Given the description of an element on the screen output the (x, y) to click on. 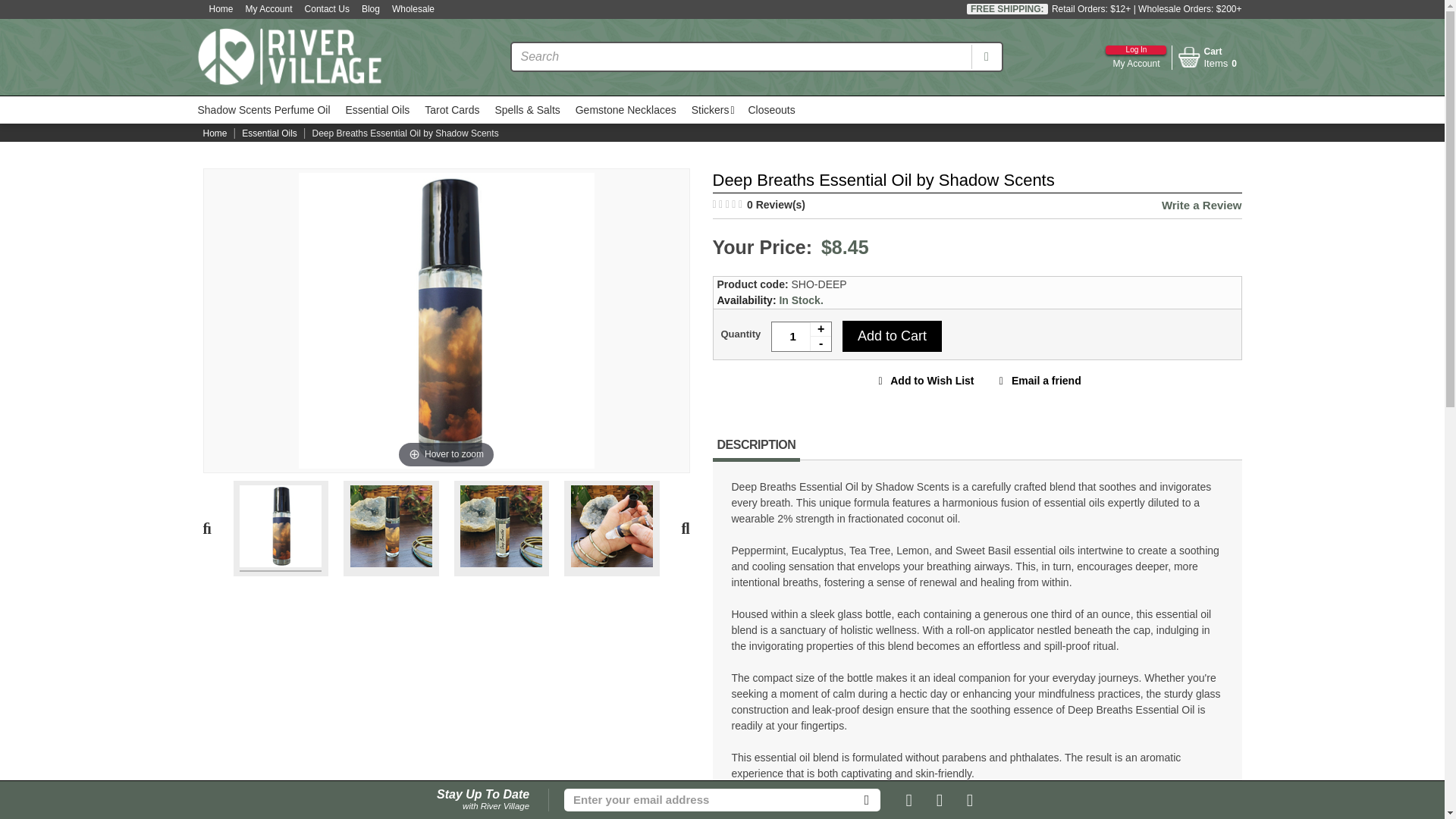
Like Us on Facebook (909, 799)
Essential Oils (376, 109)
Tarot Cards (451, 109)
Shadow Scents Perfume Oil (263, 109)
Blog (370, 9)
Deep Breaths Essential Oil by Shadow Scents  (1135, 60)
Contact Us (280, 528)
Essential Oils (326, 9)
Hover to zoom (269, 132)
Gemstone Necklaces (1206, 66)
Shopping Cart (445, 319)
Deep Breaths Essential Oil by Shadow Scents (625, 109)
